Given the description of an element on the screen output the (x, y) to click on. 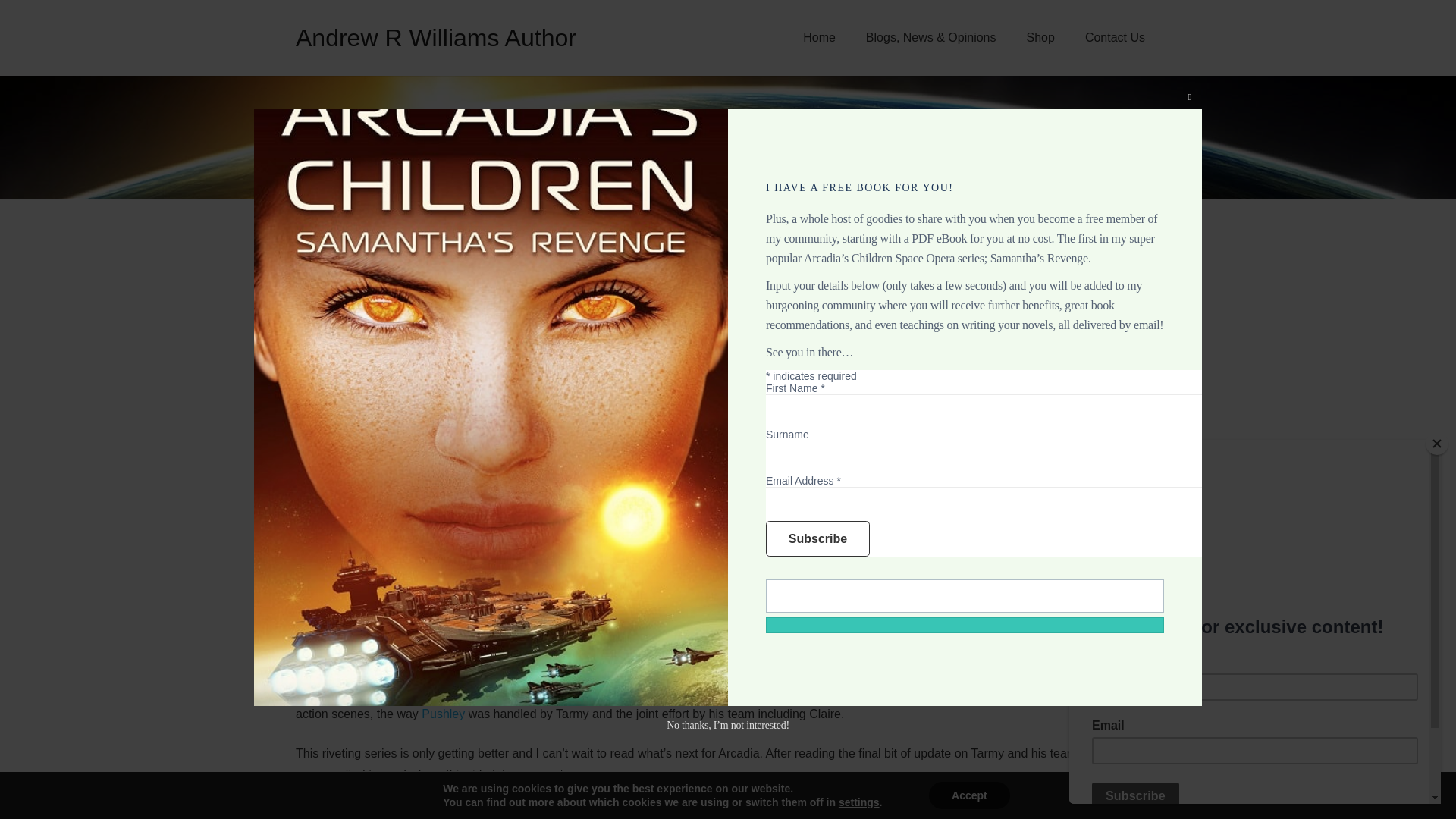
Close this module (1189, 96)
Subscribe (817, 538)
settings (858, 802)
Pushley (443, 713)
Accept (969, 795)
Contact Us (1115, 38)
Andrew R Williams Author (435, 37)
Subscribe (817, 538)
